Given the description of an element on the screen output the (x, y) to click on. 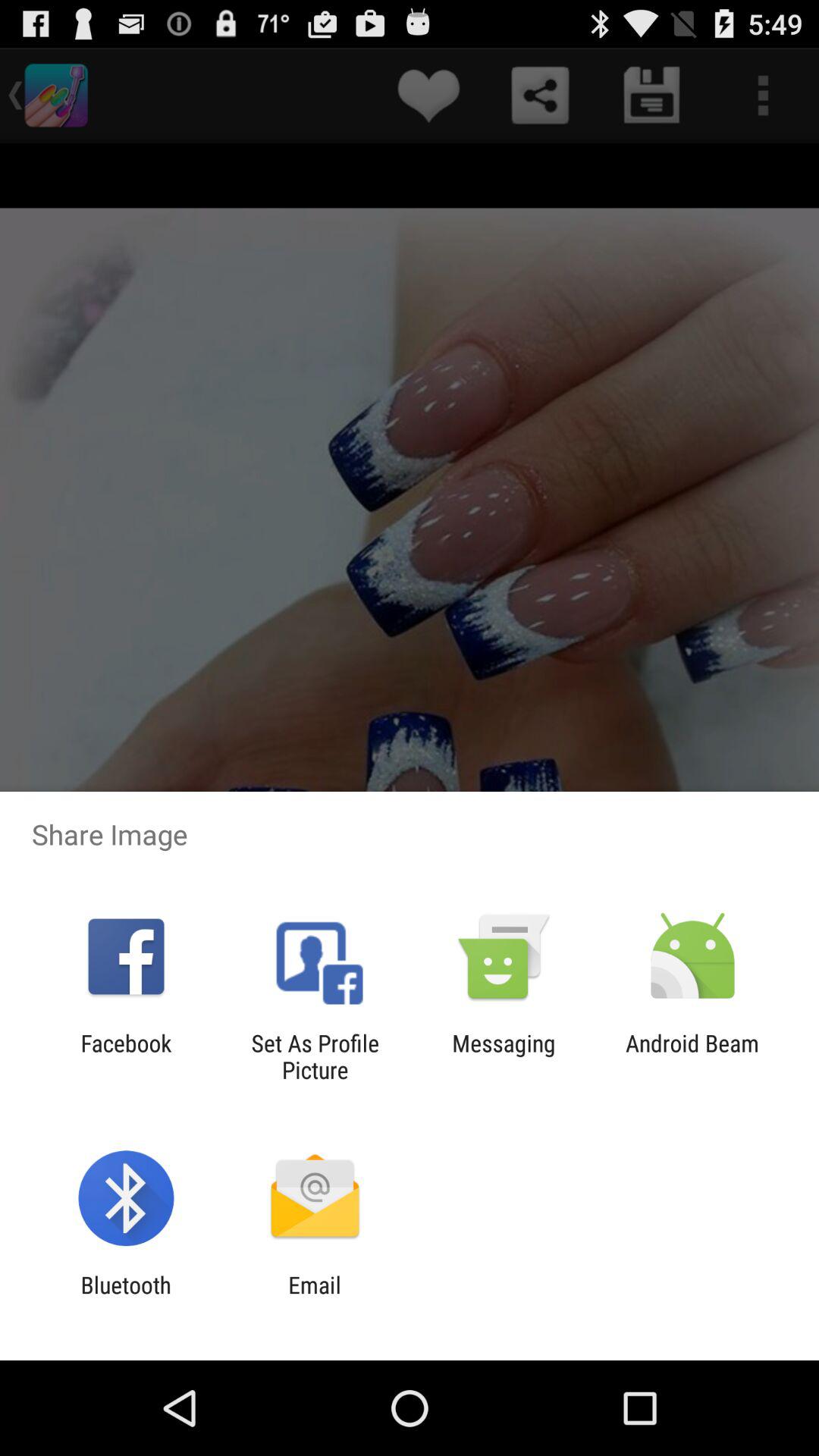
turn on icon to the right of the facebook (314, 1056)
